Given the description of an element on the screen output the (x, y) to click on. 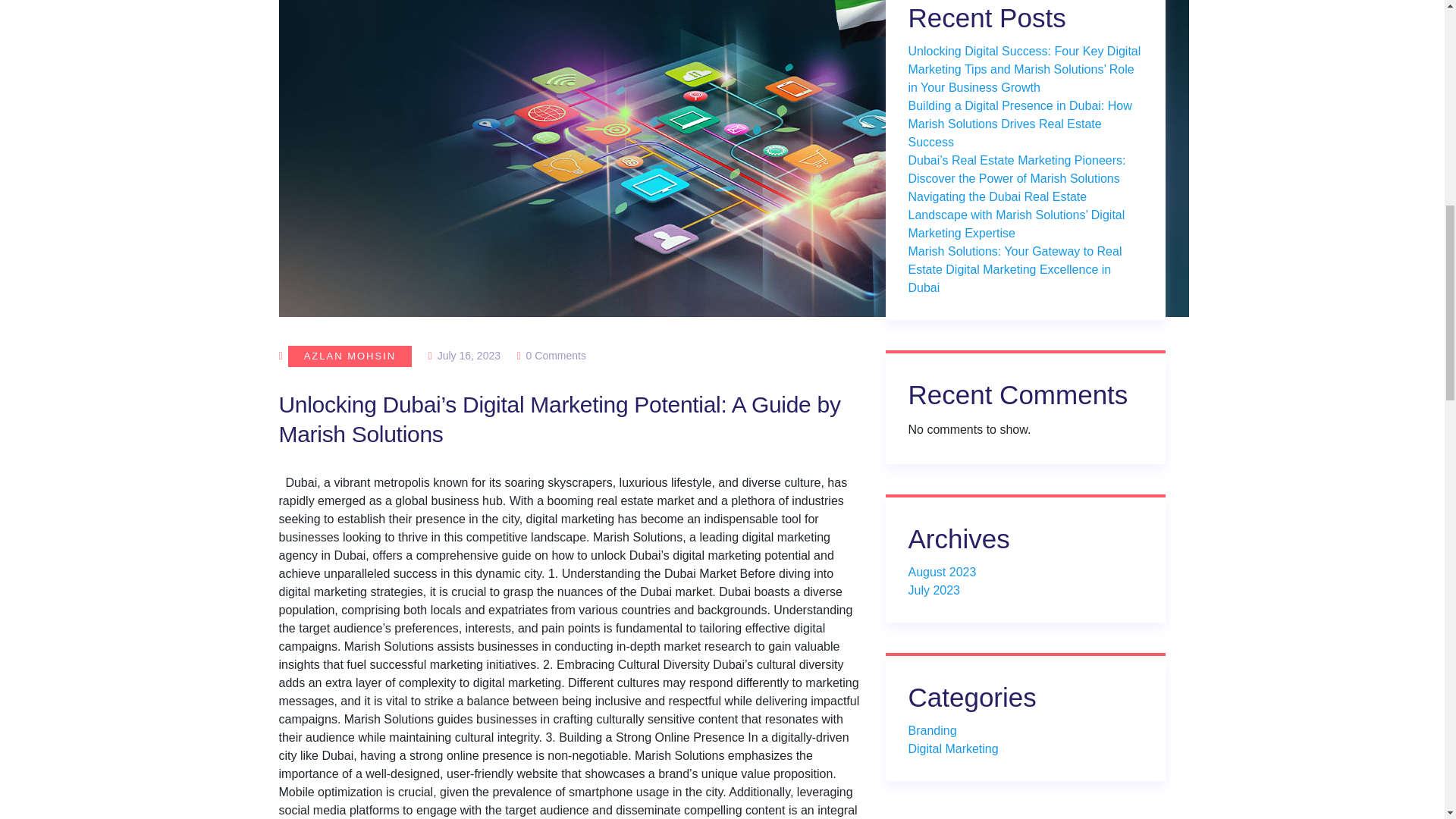
August 2023 (942, 571)
July 2023 (934, 590)
AZLAN MOHSIN (350, 355)
Digital Marketing (953, 748)
Branding (932, 730)
